Given the description of an element on the screen output the (x, y) to click on. 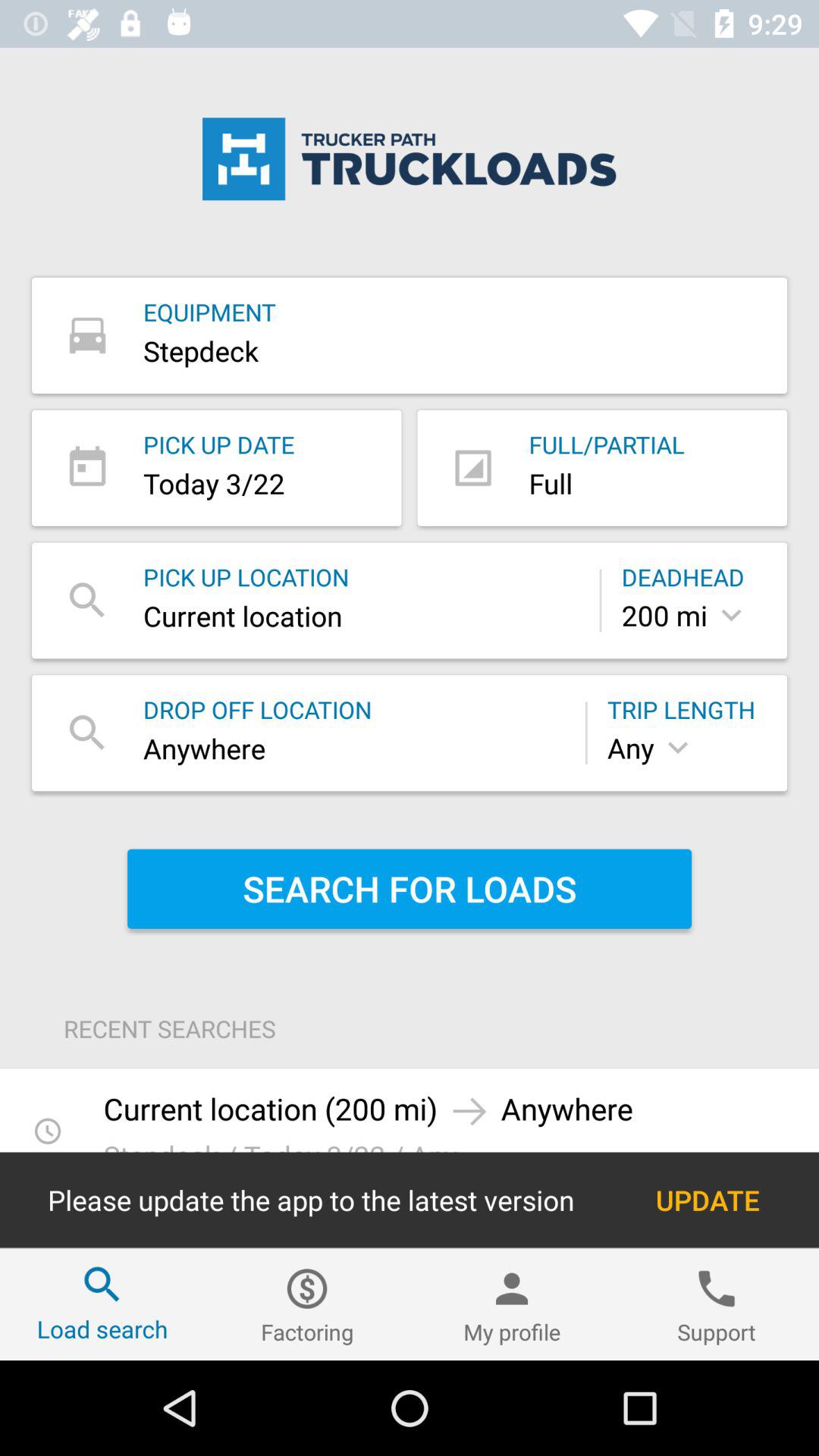
go to timer icon at bottom left of page (47, 1131)
click on the button which is above the recent searches (409, 888)
choose button trip length and below text any followed with dropdown (687, 732)
